Given the description of an element on the screen output the (x, y) to click on. 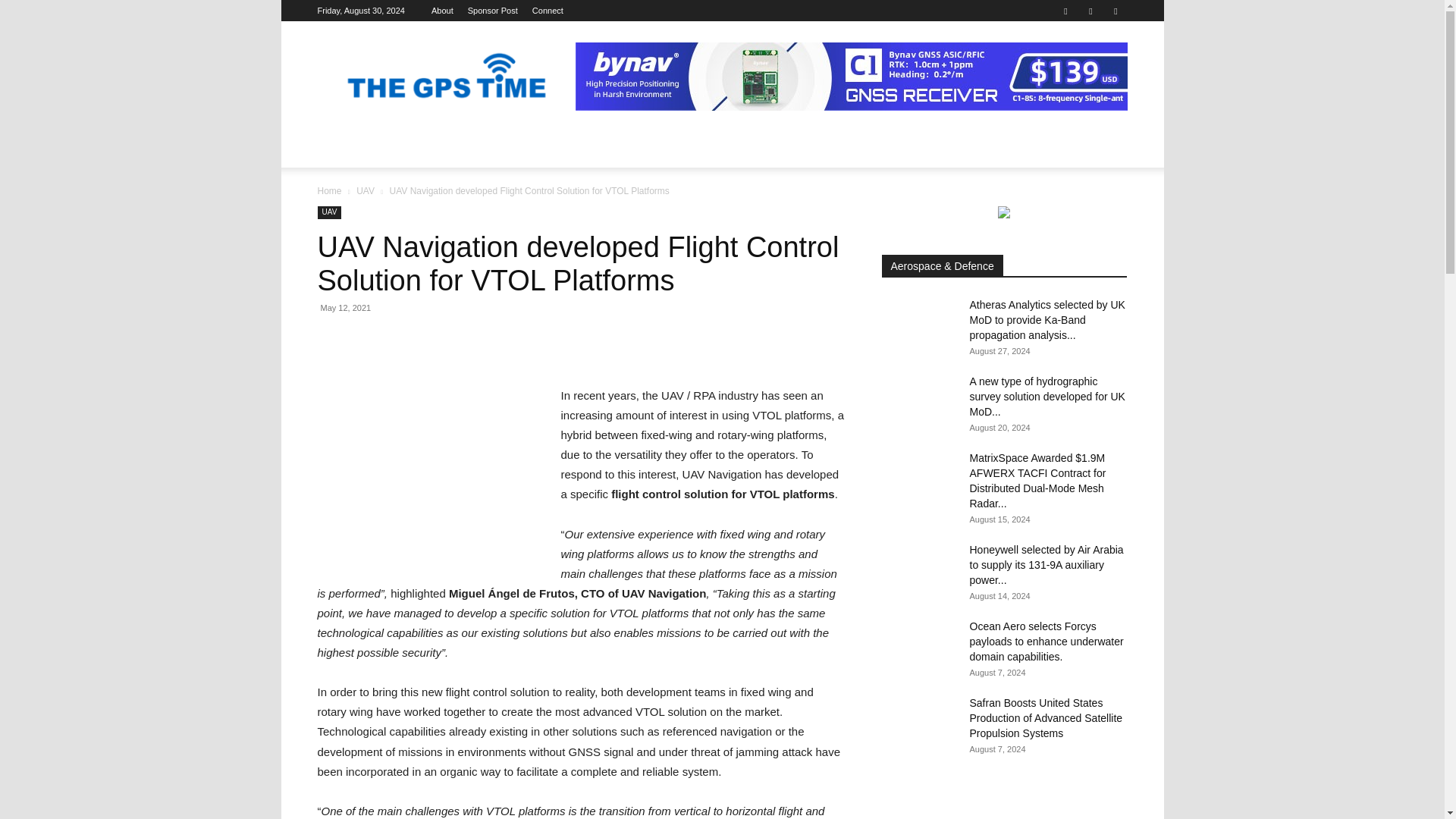
HOME (341, 129)
Connect (547, 10)
Twitter (1114, 10)
About (441, 10)
Sponsor Post (492, 10)
Facebook (1065, 10)
Linkedin (1090, 10)
View all posts in UAV (365, 190)
